Given the description of an element on the screen output the (x, y) to click on. 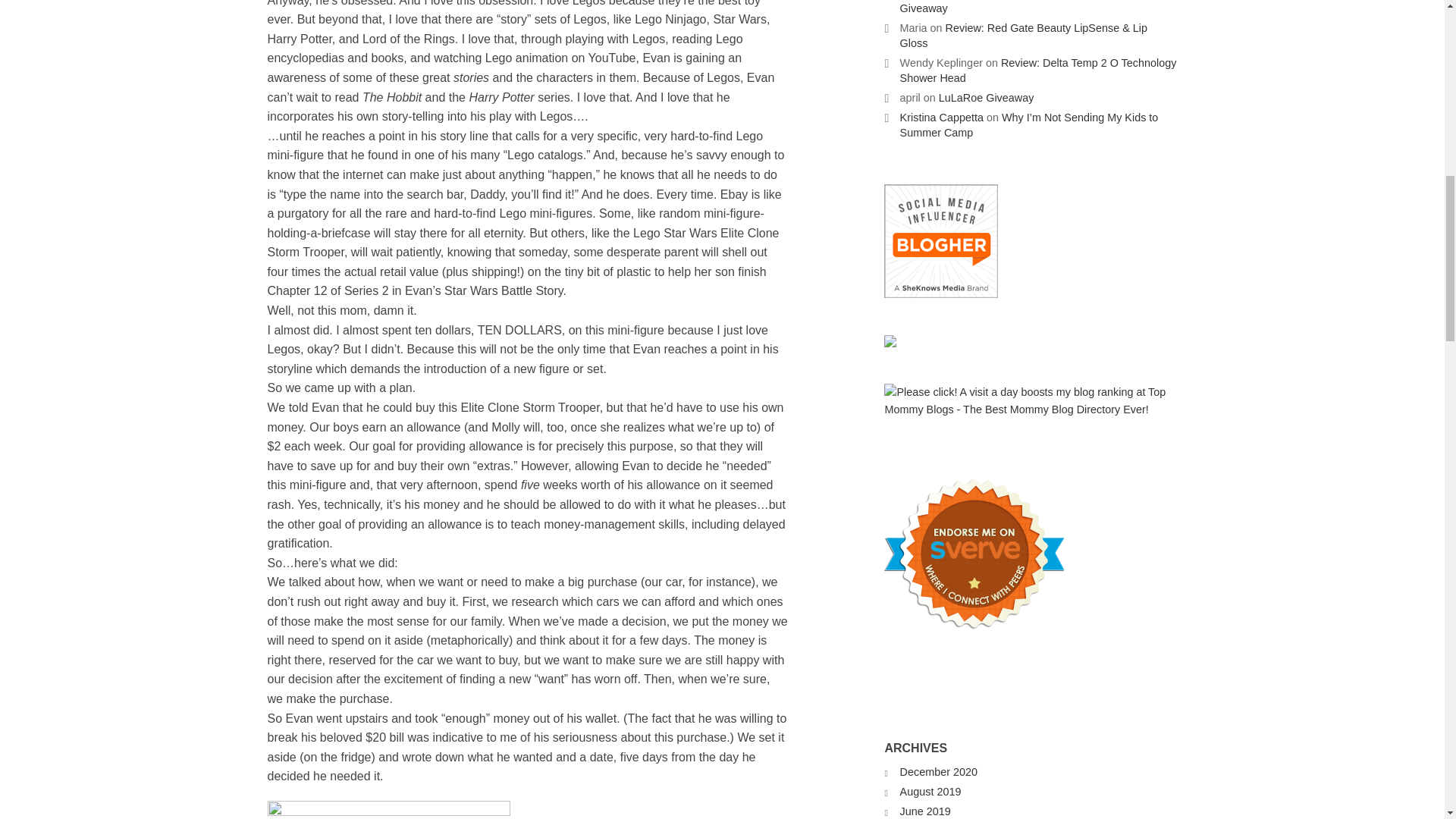
August 2019 (929, 791)
LuLaRoe Giveaway (986, 97)
December 2020 (937, 771)
June 2019 (924, 811)
Review: Delta Temp 2 O Technology Shower Head (1037, 70)
Kristina Cappetta (941, 117)
